Given the description of an element on the screen output the (x, y) to click on. 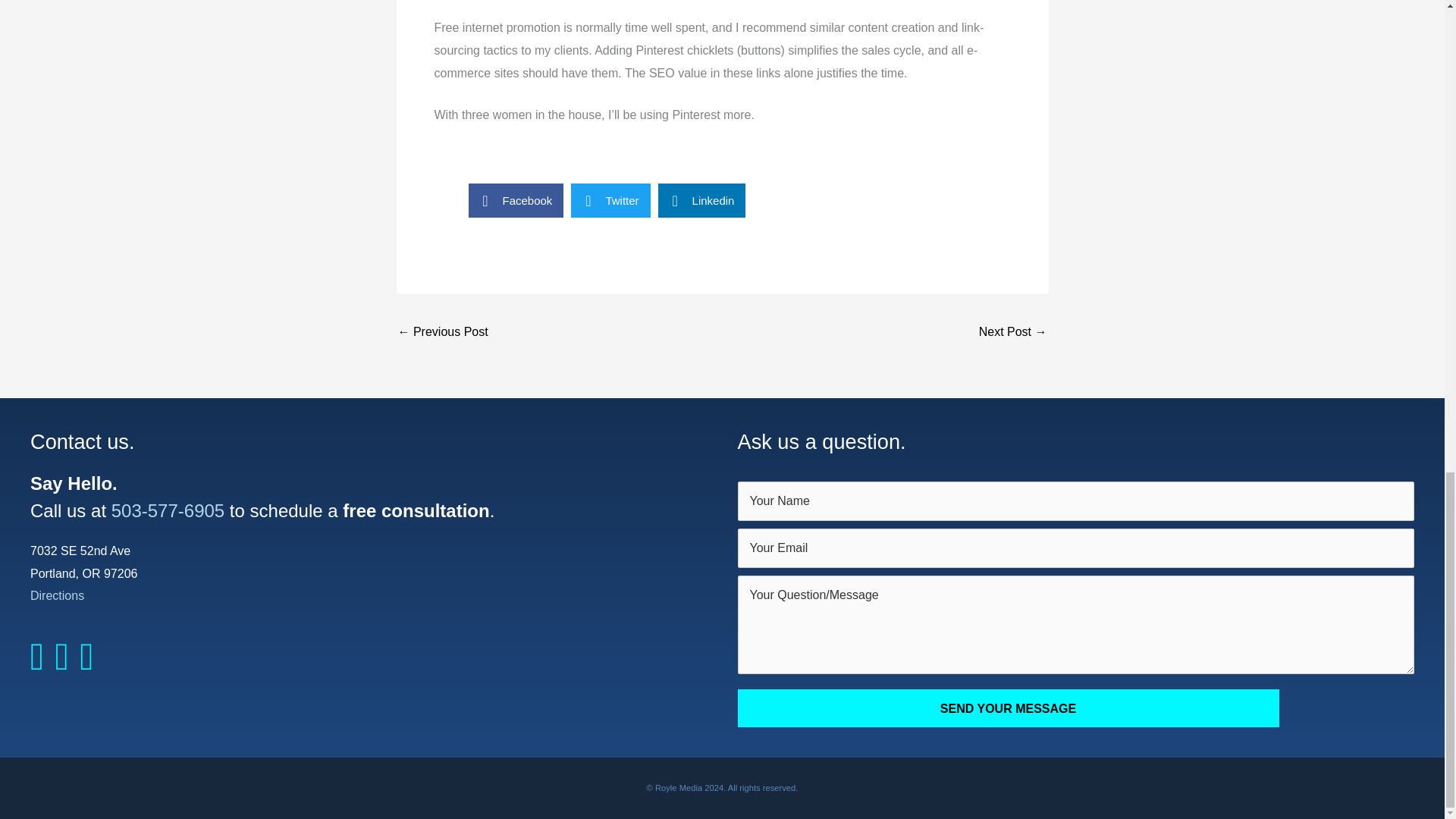
Facebook (516, 200)
503-577-6905 (168, 510)
Twitter (609, 200)
Directions (57, 594)
SEND YOUR MESSAGE (1007, 708)
Switch Gears from Broadcast to Internet (442, 333)
Linkedin (701, 200)
